Given the description of an element on the screen output the (x, y) to click on. 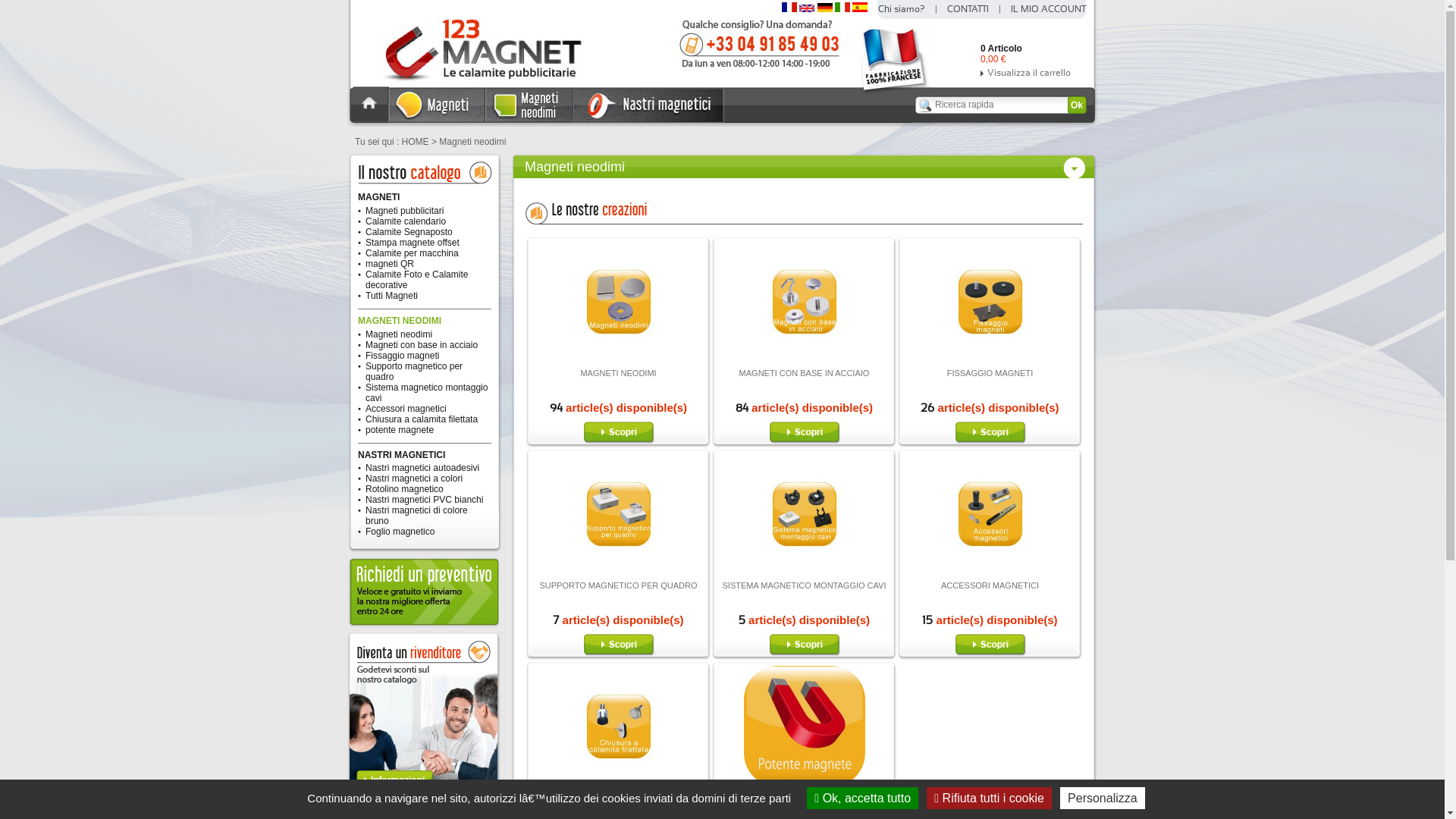
Deutsch Element type: hover (824, 8)
Nastri magnetici autoadesivi Element type: text (422, 467)
Calamite Segnaposto Element type: text (408, 231)
ACCESSORI MAGNETICI Element type: text (989, 584)
Tutti Magneti Element type: text (391, 295)
Chiusura a calamita filettata  Element type: hover (618, 783)
Sistema magnetico montaggio cavi Element type: hover (803, 571)
Calamite calendario Element type: text (405, 221)
Nastri magnetici a colori Element type: text (413, 478)
Fissaggio magneti Element type: hover (990, 359)
NASTRI MAGNETICI Element type: text (401, 454)
SISTEMA MAGNETICO MONTAGGIO CAVI Element type: text (804, 584)
Vedere il mio carrello Element type: hover (956, 45)
Ok, accetta tutto Element type: text (862, 798)
potente magnete Element type: text (399, 429)
Accessori magnetici Element type: hover (990, 571)
Nastri magnetici Element type: hover (649, 119)
Rotolino magnetico Element type: text (404, 488)
Foglio magnetico Element type: text (399, 531)
MAGNETI NEODIMI Element type: text (617, 372)
Supporto magnetico per quadro Element type: hover (618, 571)
Nastri magnetici di colore bruno Element type: text (416, 515)
Magneti neodimi Element type: hover (618, 359)
Calamite per macchina Element type: text (411, 252)
Magneti con base in acciaio Element type: hover (803, 359)
potente magnete Element type: hover (803, 783)
Chi siamo? Element type: text (901, 8)
Personalizza Element type: text (1102, 798)
POTENTE MAGNETE Element type: text (803, 797)
Richiedi preventivo Element type: hover (424, 625)
CONTATTI Element type: hover (759, 66)
HOME Element type: text (415, 141)
Italian Element type: hover (842, 8)
FISSAGGIO MAGNETI Element type: text (990, 372)
HOME Element type: hover (371, 118)
Magneti Element type: hover (437, 119)
IL MIO ACCOUNT Element type: text (1047, 8)
Sistema magnetico montaggio cavi Element type: text (426, 392)
CONTATTI Element type: text (967, 8)
Diventa un rivenditore Element type: hover (423, 802)
Magneti con base in acciaio Element type: text (421, 344)
MAGNETI Element type: text (378, 196)
Stampa magnete offset Element type: text (412, 242)
Calamite Foto e Calamite decorative Element type: text (416, 279)
Rifiuta tutti i cookie Element type: text (988, 798)
SUPPORTO MAGNETICO PER QUADRO Element type: text (617, 584)
Fabbricazione 100% francese Element type: hover (896, 91)
Visualizza il carrello Element type: text (1032, 72)
Accessori magnetici Element type: text (405, 408)
magneti QR Element type: text (389, 263)
MAGNETI NEODIMI Element type: text (399, 320)
Magneti pubblicitari Element type: text (404, 210)
Nastri magnetici PVC bianchi Element type: text (424, 499)
CHIUSURA A CALAMITA FILETTATA Element type: text (618, 797)
Chiusura a calamita filettata Element type: text (421, 419)
English Element type: hover (806, 8)
MAGNETI CON BASE IN ACCIAIO Element type: text (804, 372)
Fissaggio magneti Element type: text (402, 355)
123 Magnet, le calamite pubblicitarie Element type: hover (469, 82)
Supporto magnetico per quadro Element type: text (413, 371)
Magneti neodimi Element type: text (398, 334)
Magneti neodimi Element type: hover (530, 119)
